Given the description of an element on the screen output the (x, y) to click on. 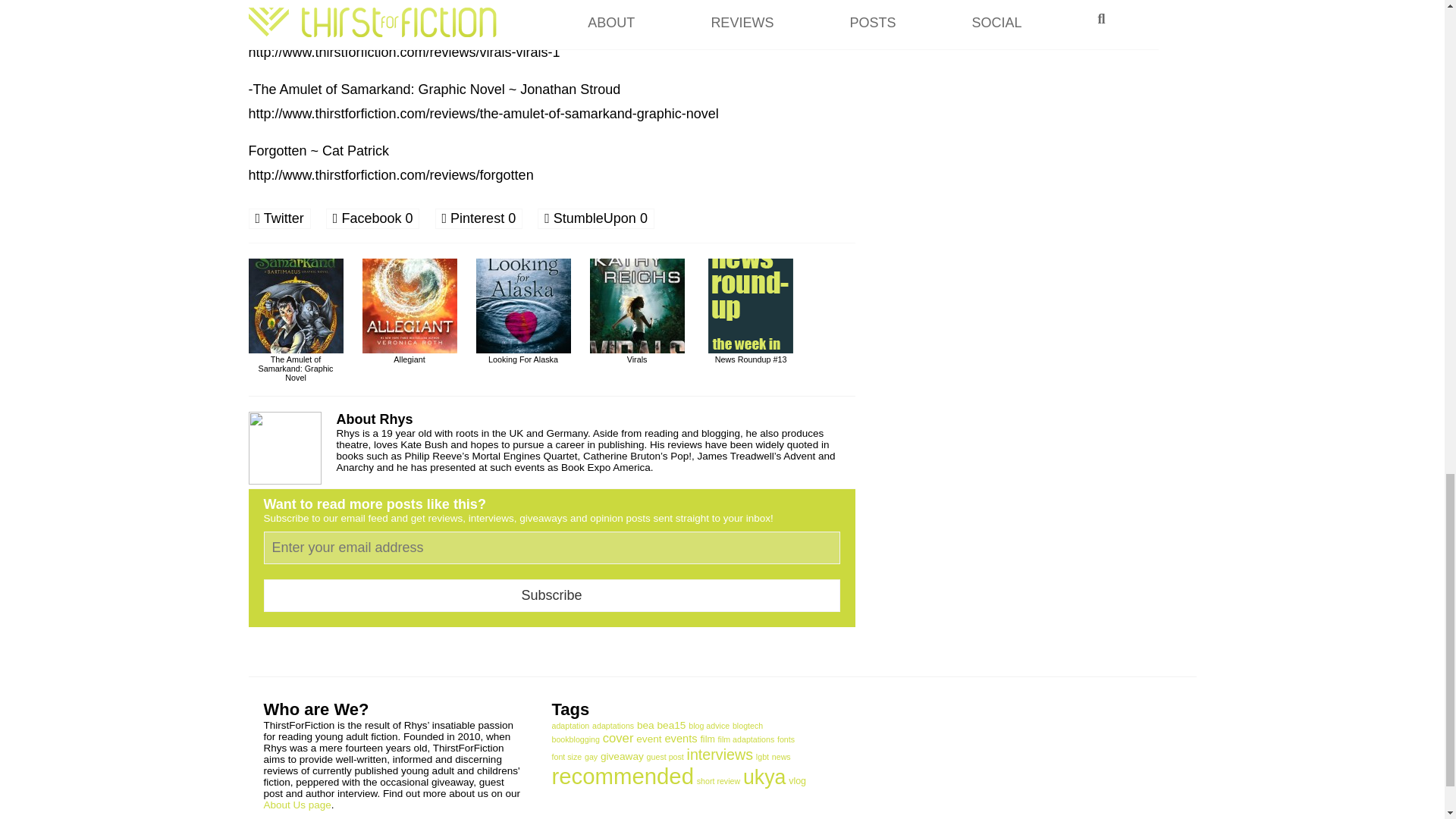
The Amulet of Samarkand: Graphic Novel (295, 363)
Allegiant (409, 354)
The Amulet of Samarkand: Graphic Novel (295, 363)
Pinterest 0 (478, 218)
Subscribe (551, 595)
StumbleUpon 0 (595, 218)
Twitter (279, 218)
Virals (636, 354)
Allegiant (409, 354)
Looking For Alaska (523, 354)
